Given the description of an element on the screen output the (x, y) to click on. 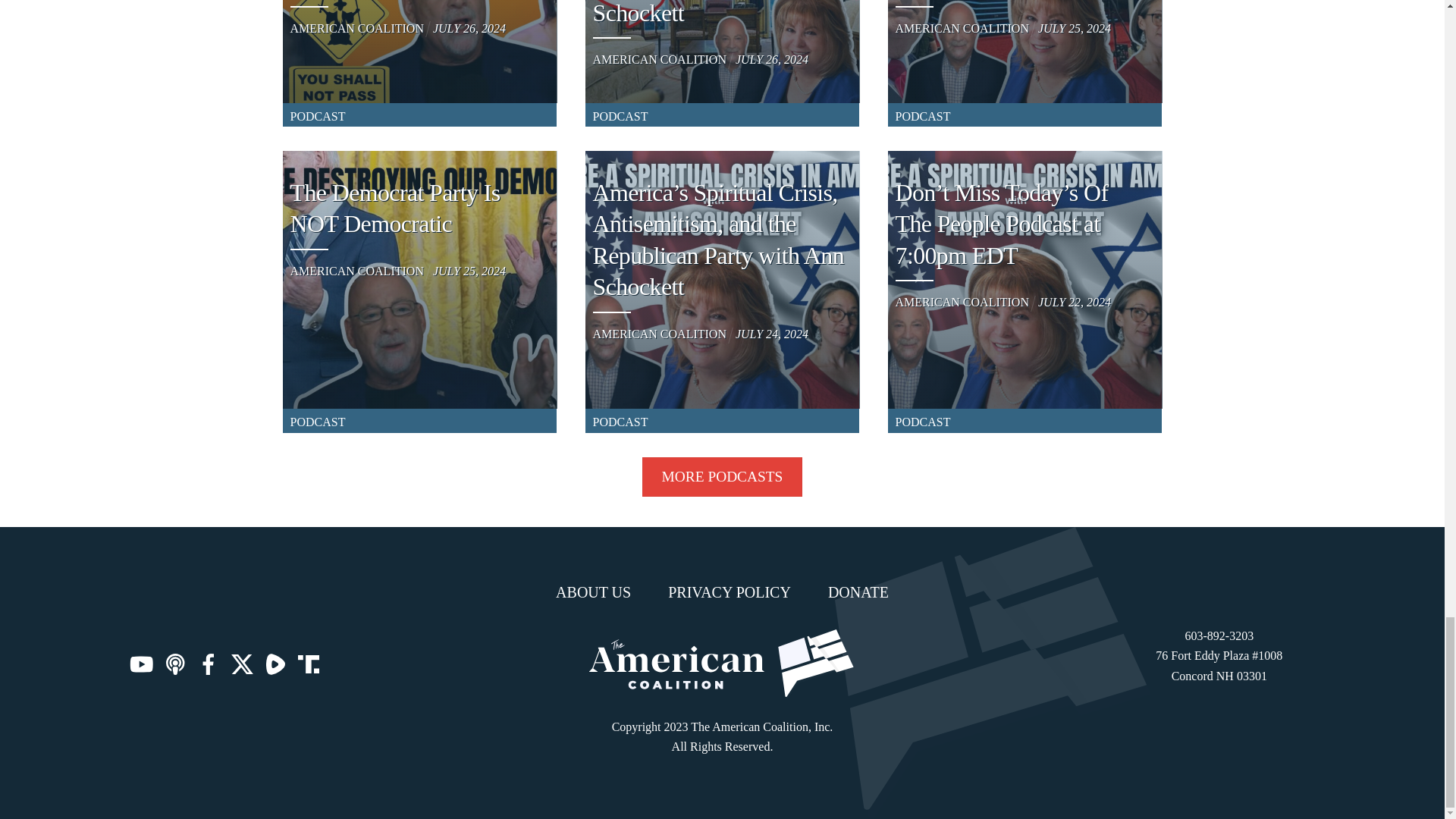
ABOUT US PRIVACY POLICY DONATE (722, 591)
American-Coalition-logo-footer (721, 664)
